Given the description of an element on the screen output the (x, y) to click on. 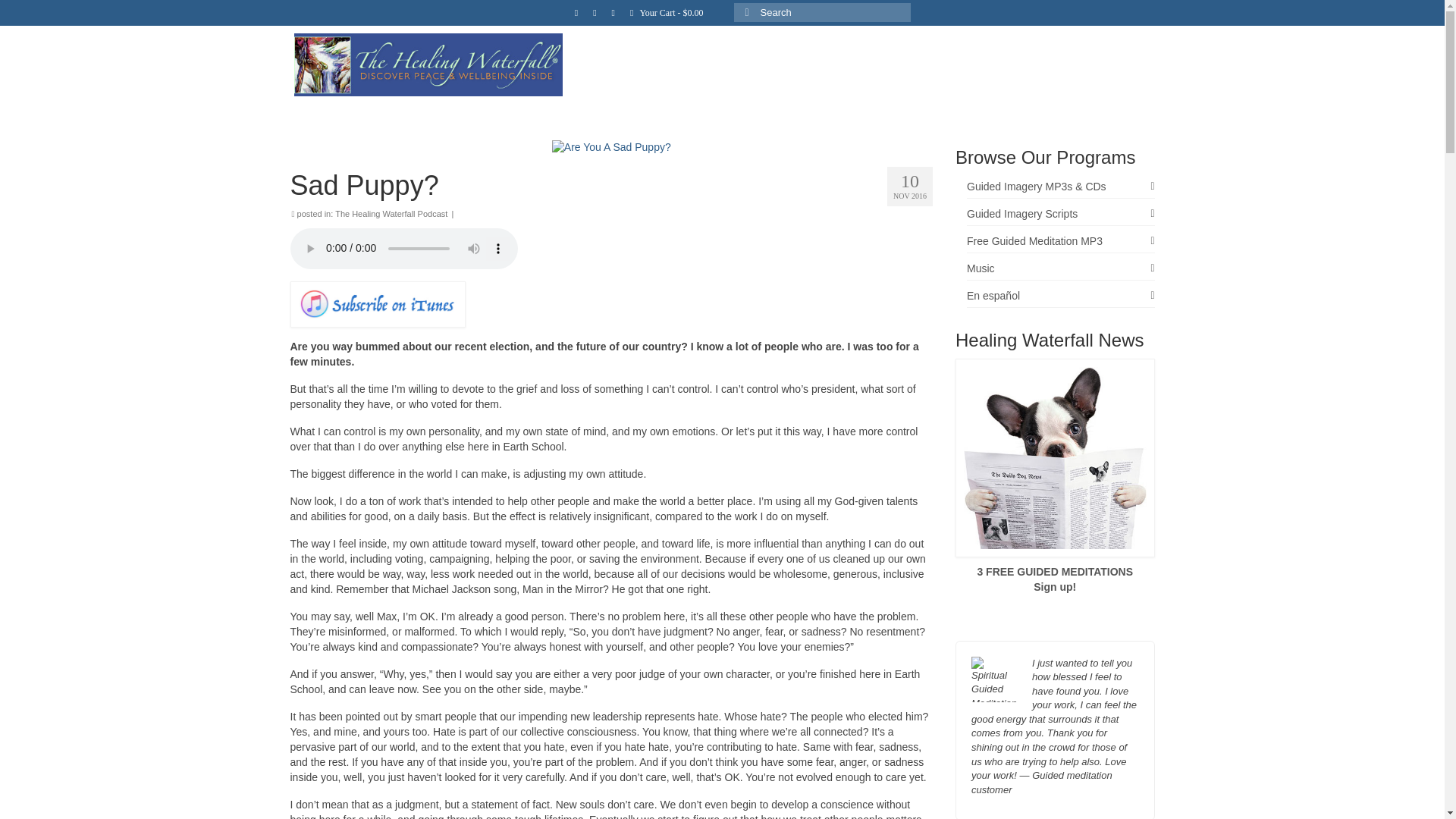
View your shopping cart (667, 12)
GUIDED IMAGERY SCRIPTS (886, 87)
GUIDED IMAGERY MP3 (749, 87)
MAX HIGHSTEIN (1012, 87)
MY ACCOUNT (1109, 87)
